Given the description of an element on the screen output the (x, y) to click on. 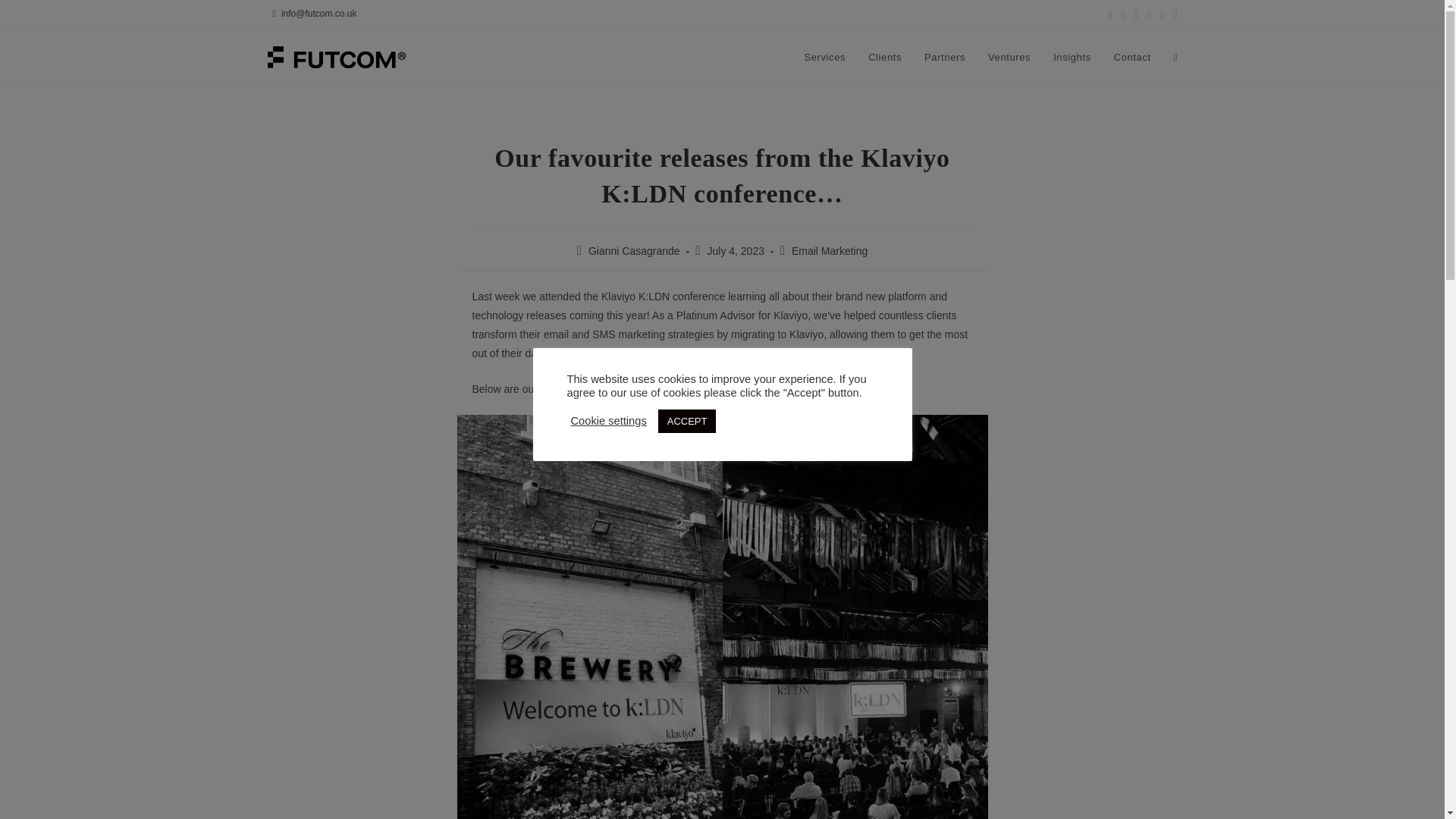
Contact (1131, 57)
Insights (1072, 57)
Ventures (1009, 57)
Services (824, 57)
Gianni Casagrande (633, 250)
Partners (944, 57)
Email Marketing (829, 250)
Clients (884, 57)
Posts by Gianni Casagrande (633, 250)
